Given the description of an element on the screen output the (x, y) to click on. 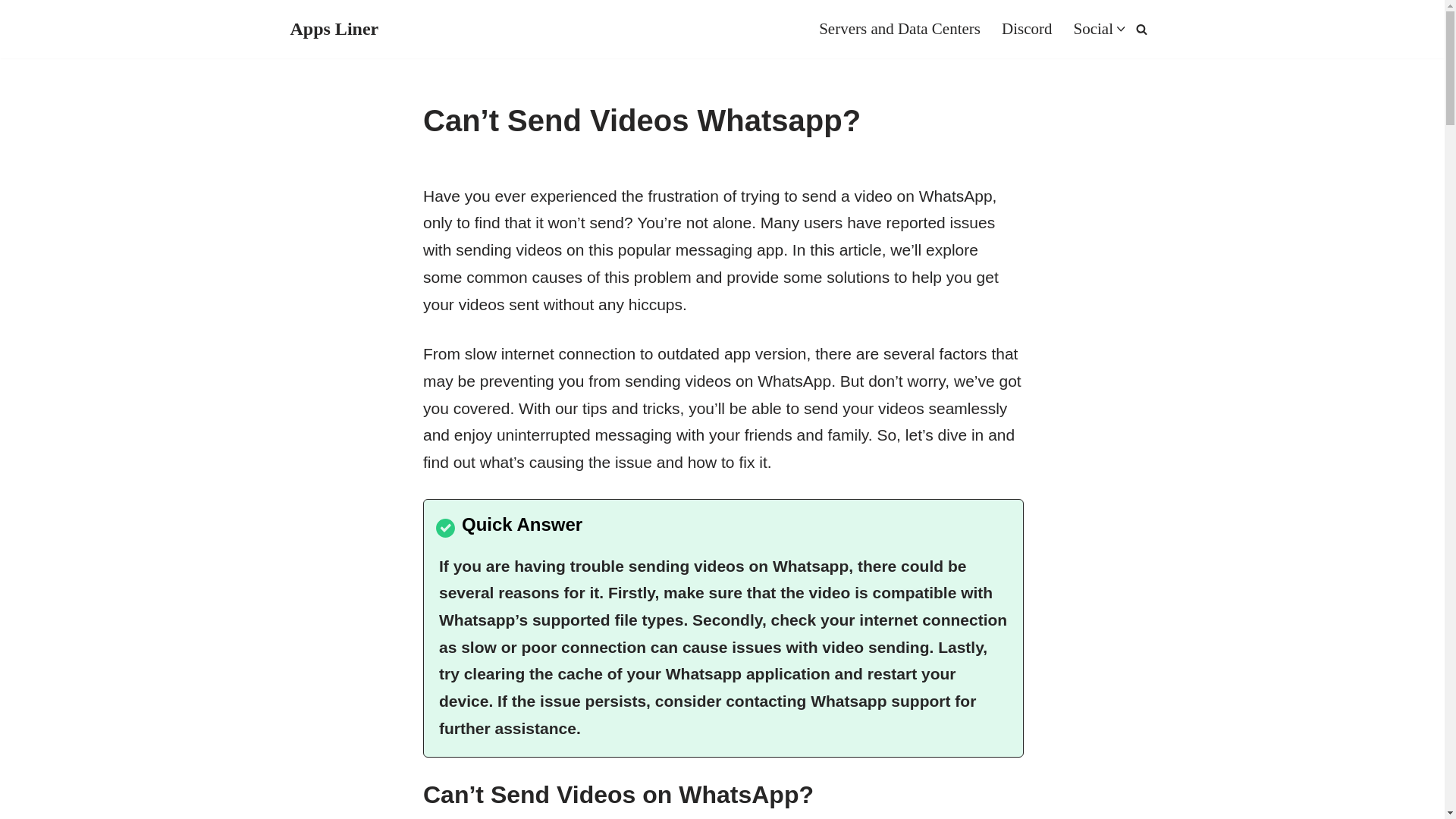
Apps Liner (333, 29)
Servers and Data Centers (898, 28)
Apps Liner (333, 29)
Social (1093, 28)
Discord (1026, 28)
Skip to content (11, 31)
